Given the description of an element on the screen output the (x, y) to click on. 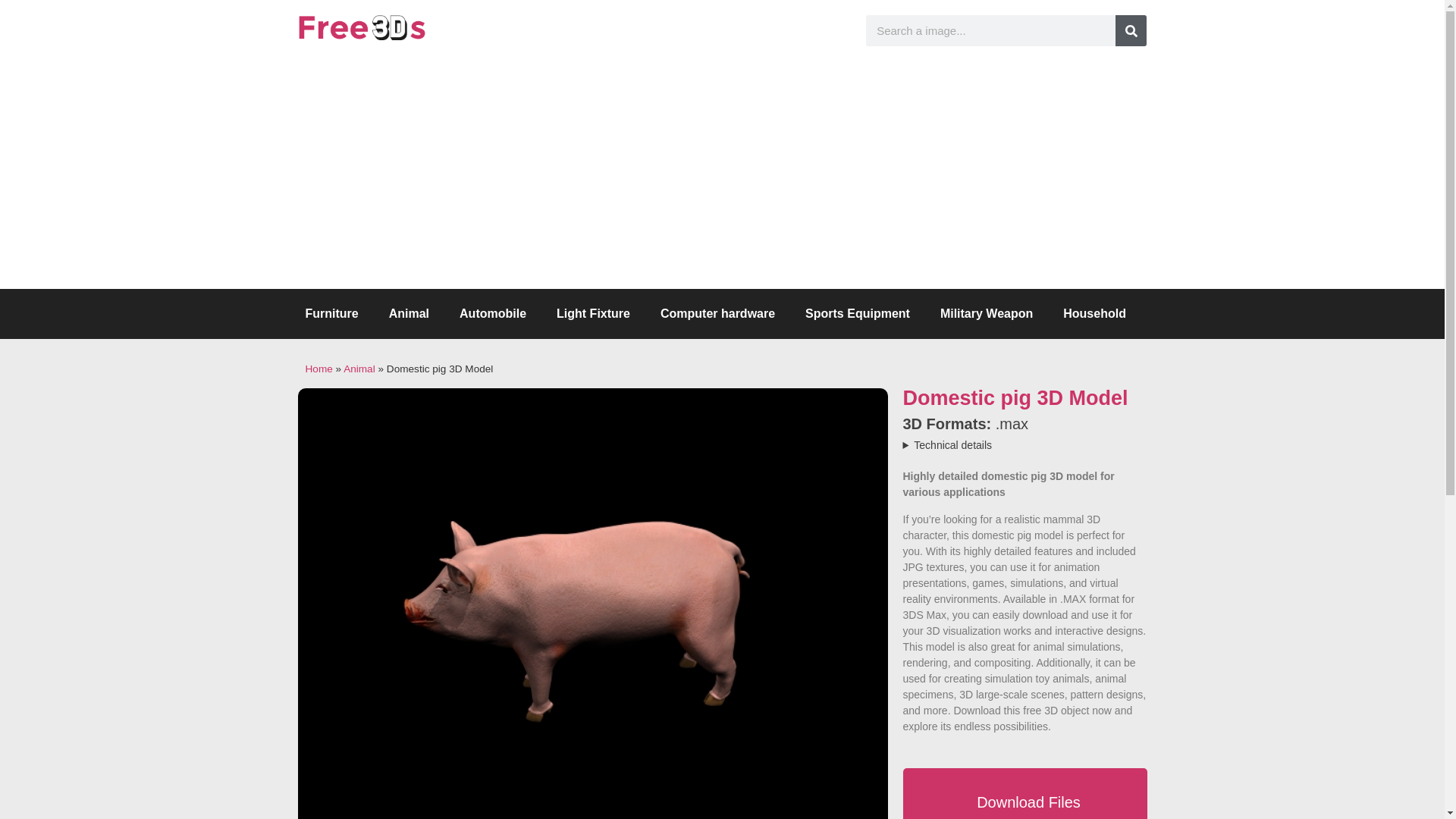
Military Weapon (986, 313)
Sports Equipment (857, 313)
Home (317, 368)
Light Fixture (593, 313)
Computer hardware (717, 313)
Household (1094, 313)
Animal (359, 368)
Furniture (330, 313)
Animal (409, 313)
Automobile (492, 313)
